Given the description of an element on the screen output the (x, y) to click on. 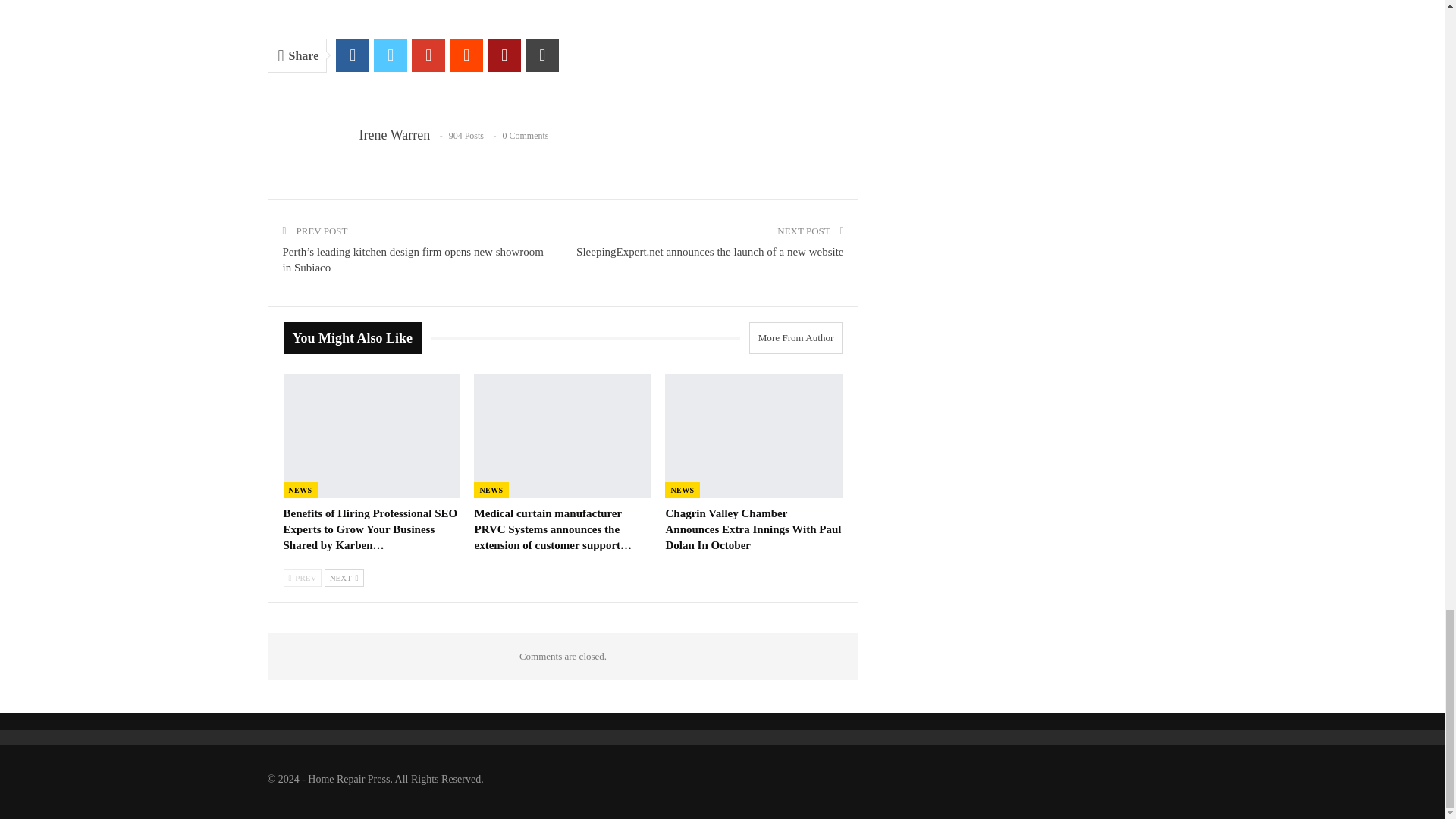
Next (344, 577)
Previous (302, 577)
